Given the description of an element on the screen output the (x, y) to click on. 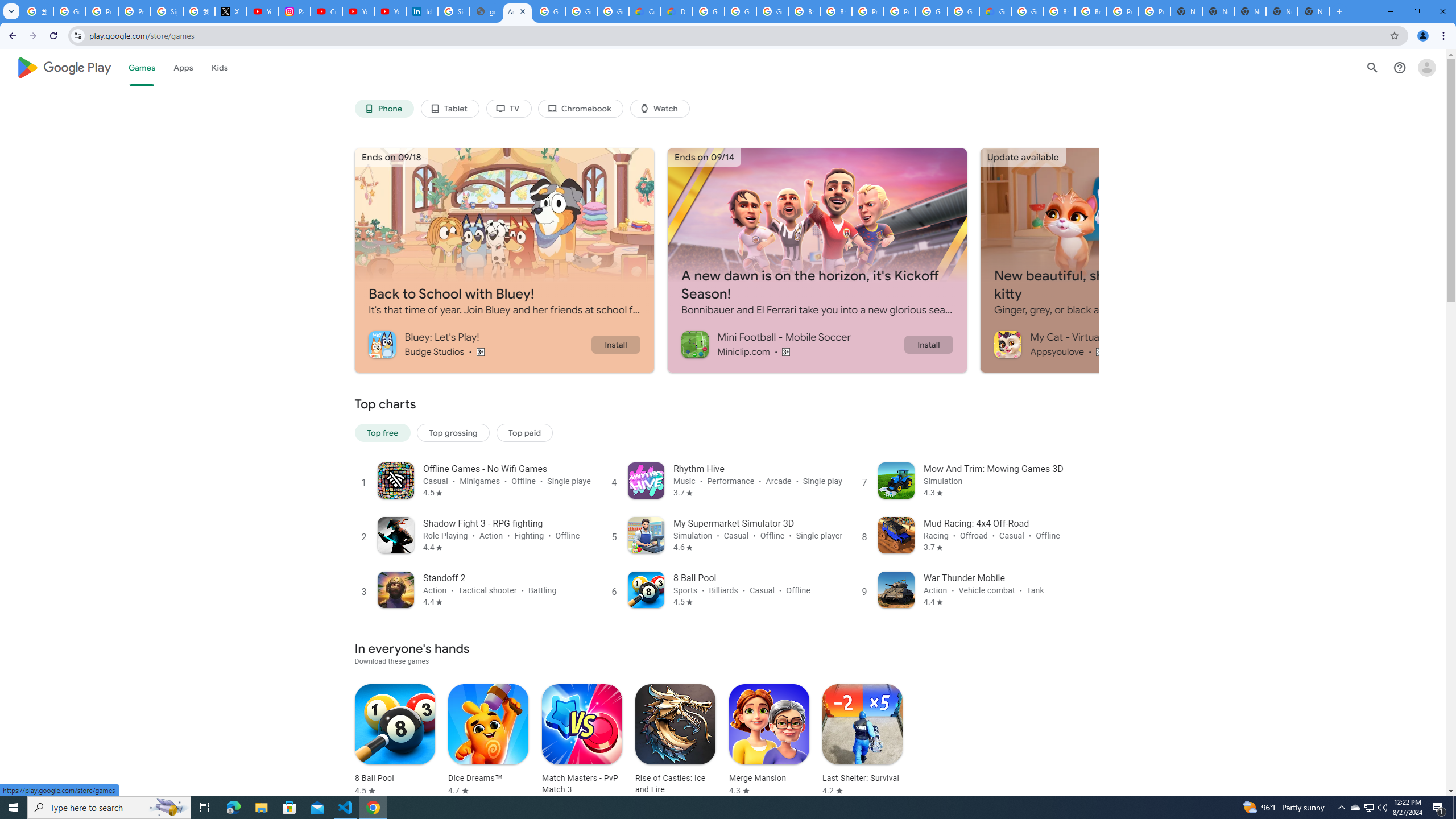
Sign in - Google Accounts (453, 11)
Google Workspace - Specific Terms (613, 11)
Browse Chrome as a guest - Computer - Google Chrome Help (1059, 11)
Top free (381, 432)
New Tab (1313, 11)
Games (141, 67)
Privacy Help Center - Policies Help (101, 11)
X (230, 11)
